Given the description of an element on the screen output the (x, y) to click on. 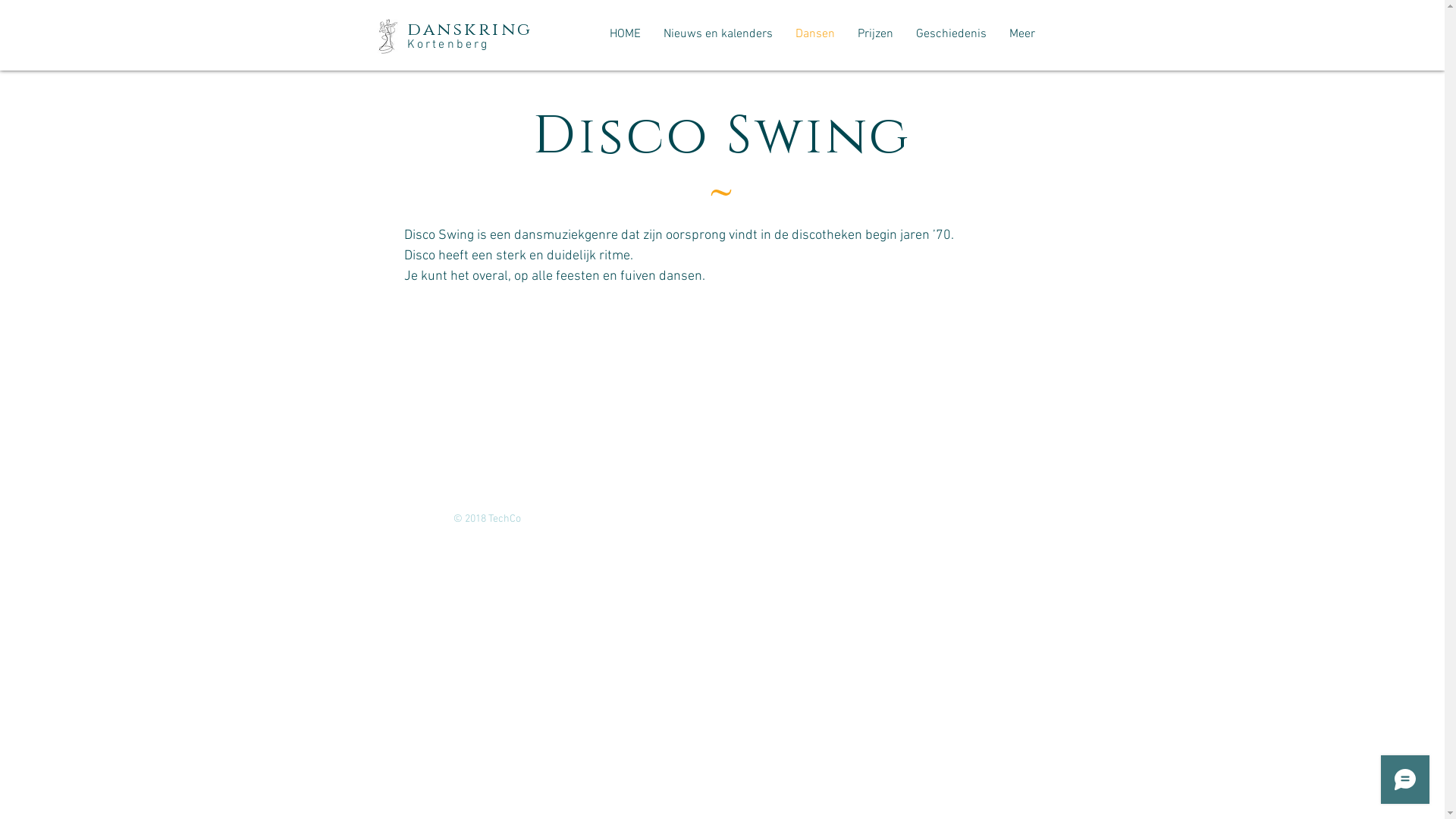
Ebattery, e-bike fietsbatterij herstelling Element type: text (763, 518)
TechCo Element type: text (505, 518)
Geschiedenis Element type: text (950, 33)
danskring Element type: text (469, 29)
Dansen Element type: text (815, 33)
iPhone herstelling Mechelen Element type: text (923, 518)
Nieuws en kalenders Element type: text (718, 33)
- Computerhulp / ICT voor KMO's Element type: text (596, 518)
Prijzen Element type: text (875, 33)
HOME Element type: text (624, 33)
Kortenberg Element type: text (447, 44)
